Given the description of an element on the screen output the (x, y) to click on. 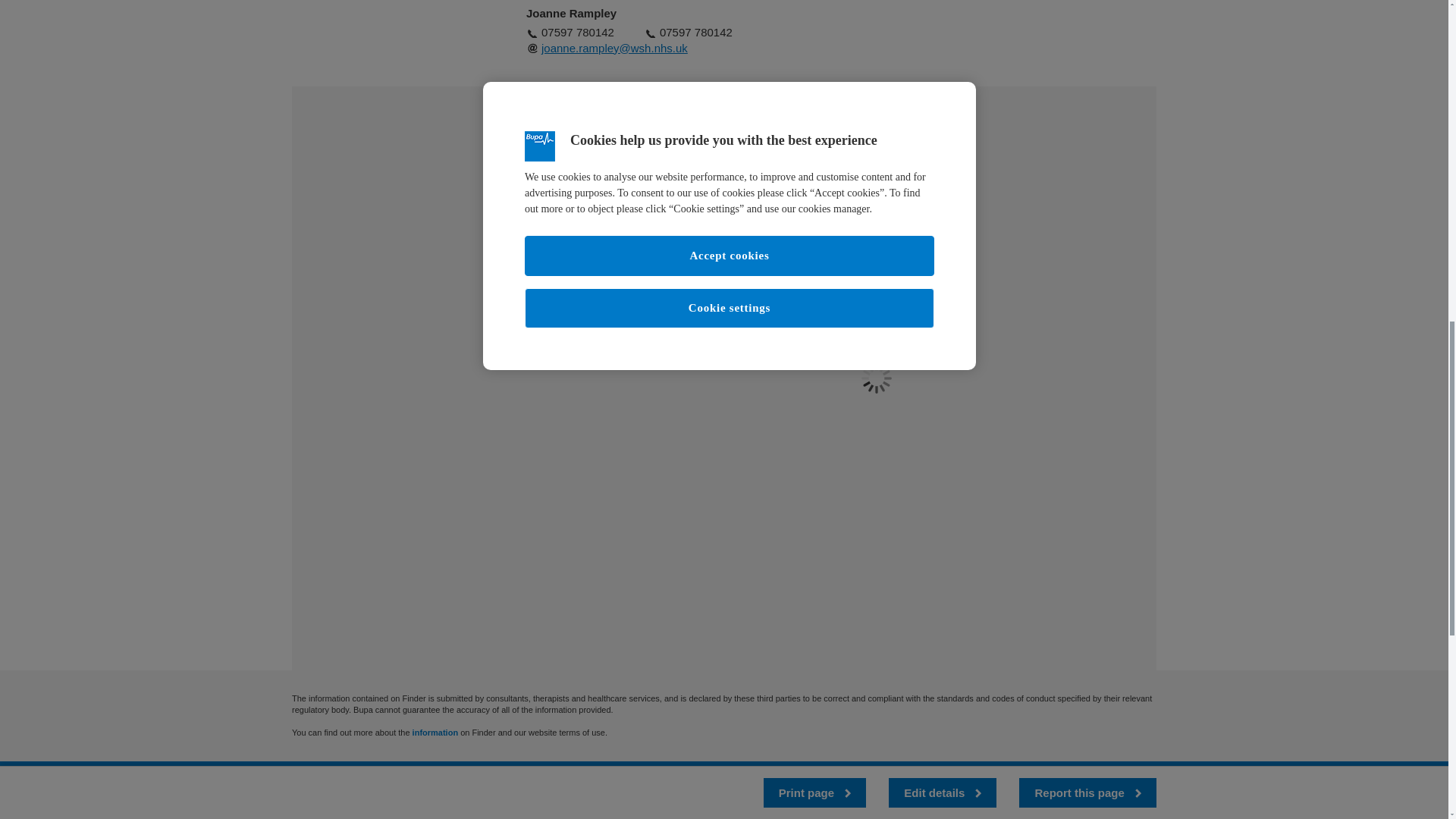
07597 780142 (695, 31)
information (435, 732)
07597 780142 (577, 31)
